Given the description of an element on the screen output the (x, y) to click on. 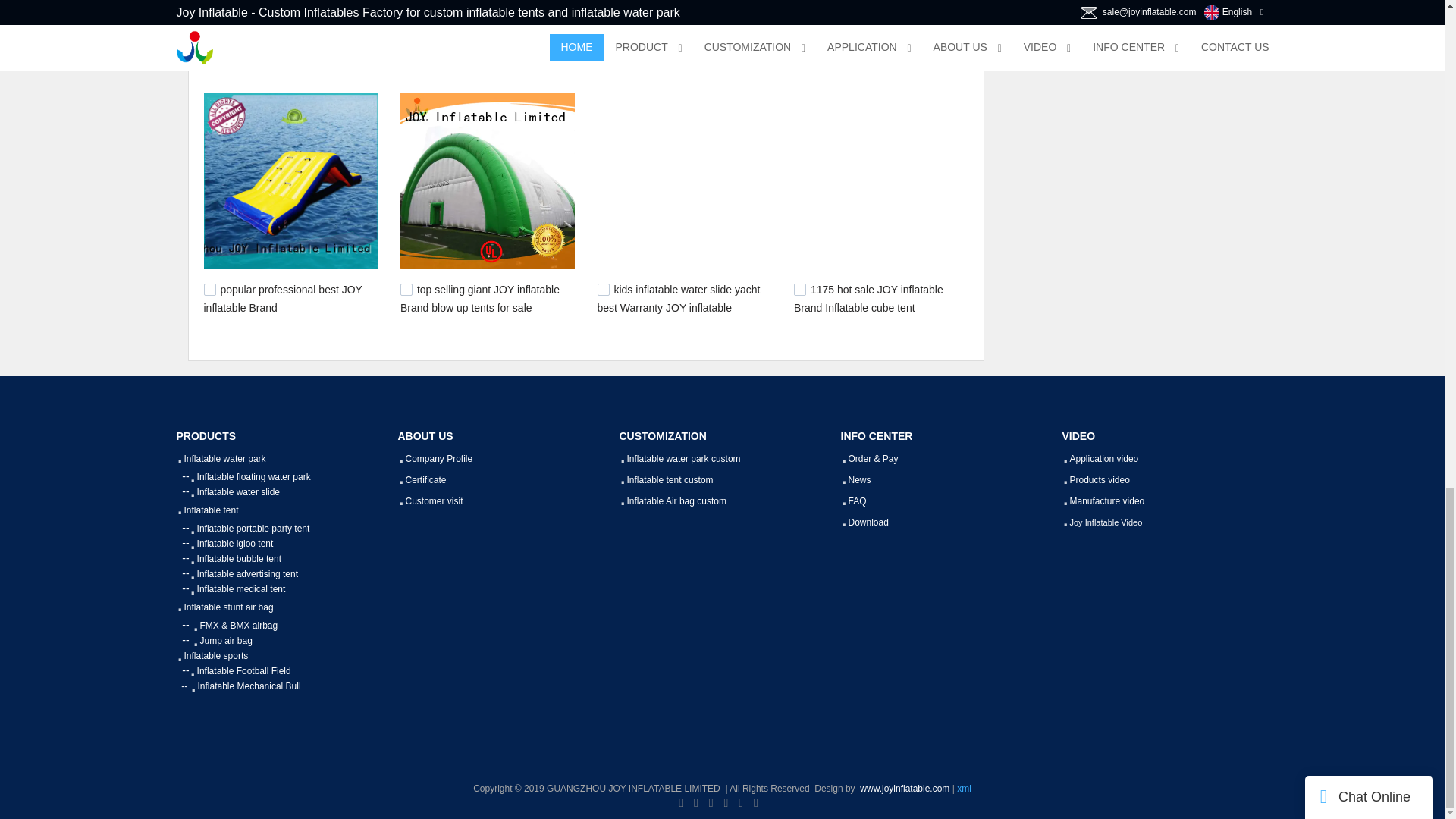
1200 (799, 44)
professional floating water park sale JOY inflatable company (875, 53)
frame commercial party JOY inflatable Brand (672, 53)
1059 (603, 289)
1903 (209, 44)
popular  professional best JOY inflatable Brand (282, 298)
1149 (209, 289)
